Given the description of an element on the screen output the (x, y) to click on. 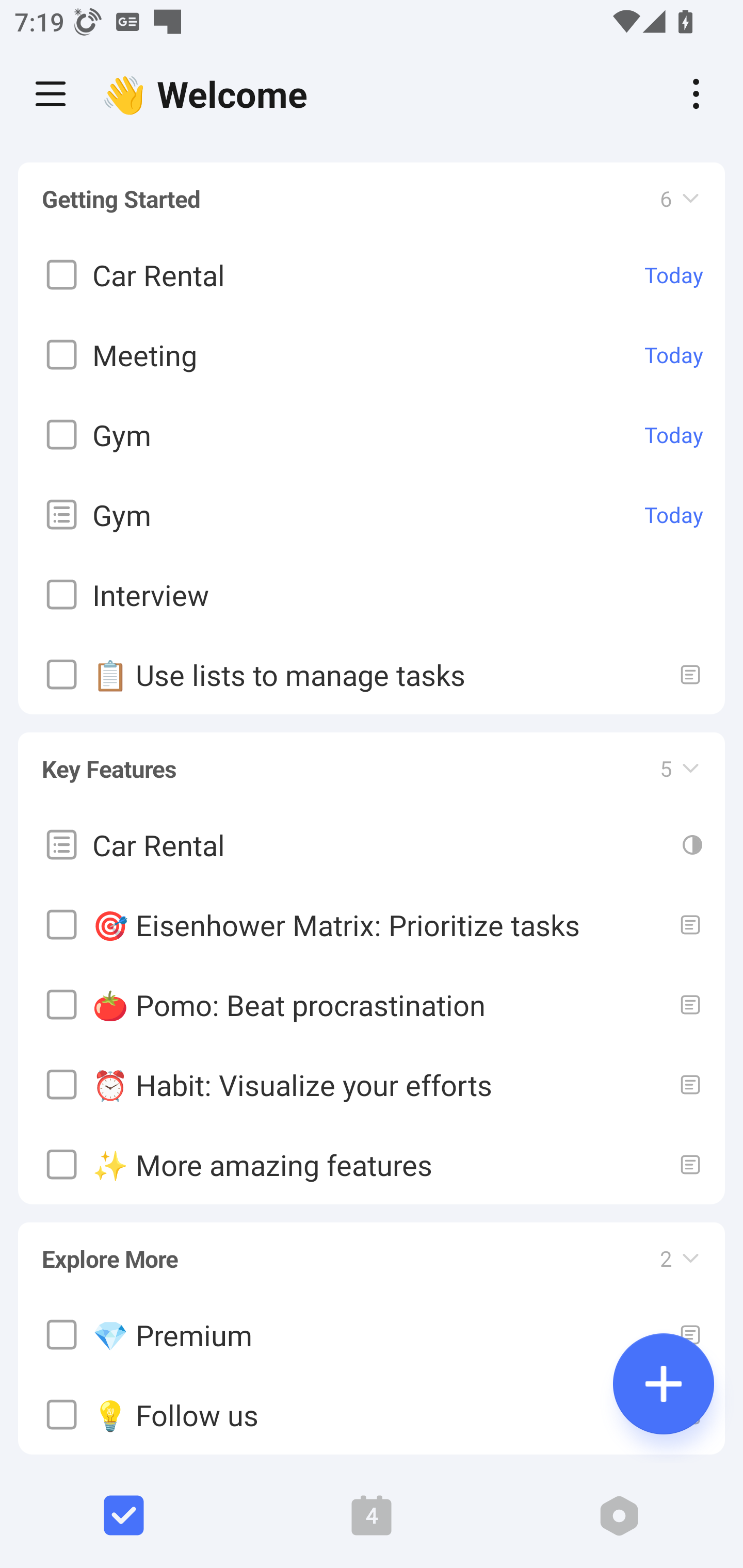
👋 Welcome (209, 93)
Getting Started 6 (371, 199)
Car Rental Today (371, 275)
Today (673, 275)
Meeting Today (371, 355)
Today (673, 355)
Gym Today (371, 435)
Today (673, 435)
Gym Today (371, 515)
Today (673, 514)
Interview (371, 595)
📋 Use lists to manage tasks (371, 675)
Key Features 5 (371, 759)
Car Rental (371, 844)
🎯 Eisenhower Matrix: Prioritize tasks (371, 924)
🍅 Pomo: Beat procrastination (371, 1004)
⏰ Habit: Visualize your efforts (371, 1084)
✨ More amazing features (371, 1164)
Explore More 2 (371, 1249)
💎 Premium (371, 1335)
💡 Follow us (371, 1415)
